Given the description of an element on the screen output the (x, y) to click on. 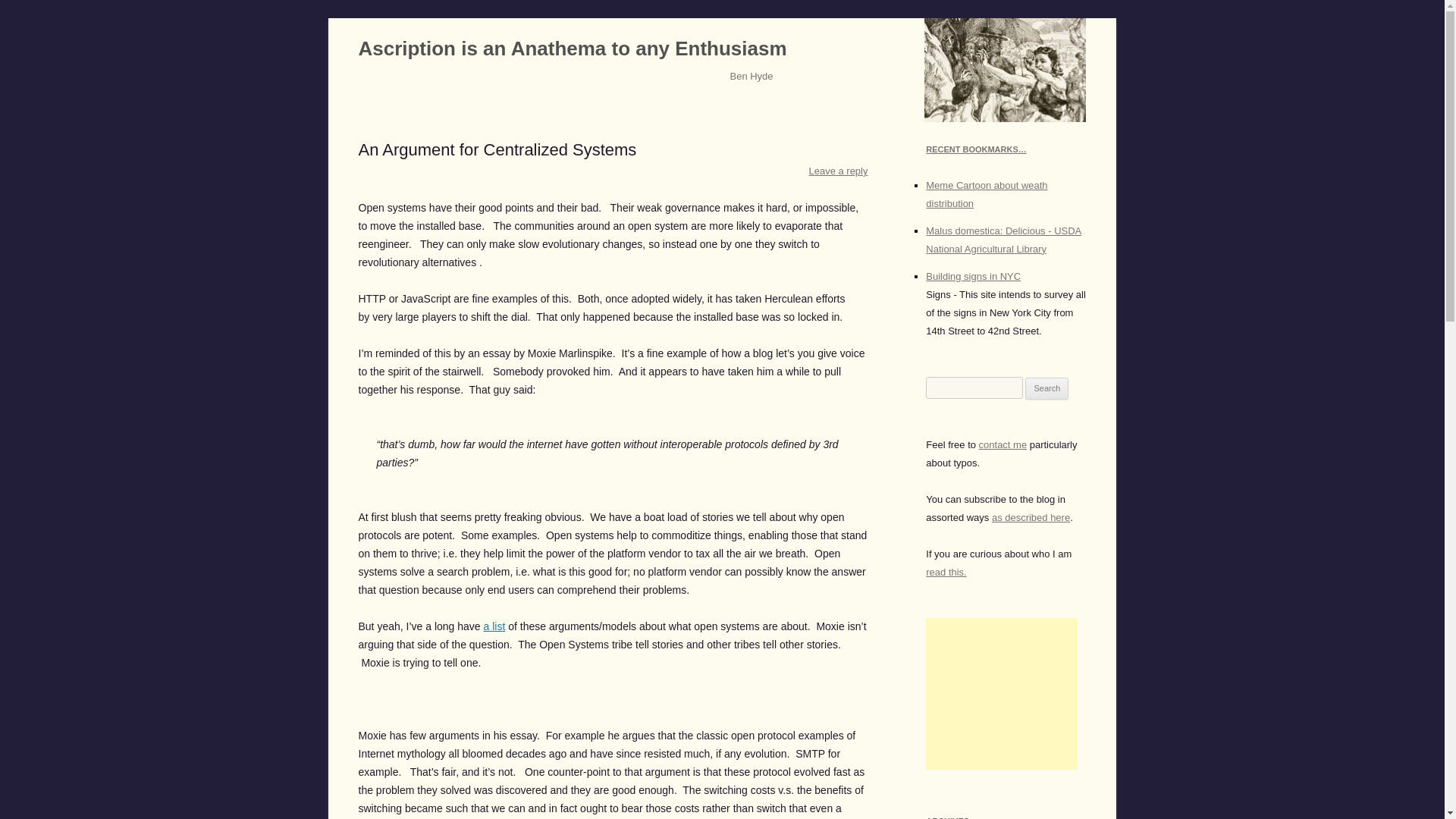
Ascription is an Anathema to any Enthusiasm (572, 49)
Search (1046, 388)
Advertisement (1001, 693)
contact me (1002, 444)
Search (1046, 388)
Ascription is an Anathema to any Enthusiasm (572, 49)
read this. (946, 572)
as described here (1030, 517)
Leave a reply (838, 170)
Reveal this e-mail address (1002, 444)
Building signs in NYC (973, 276)
a list (494, 625)
